Given the description of an element on the screen output the (x, y) to click on. 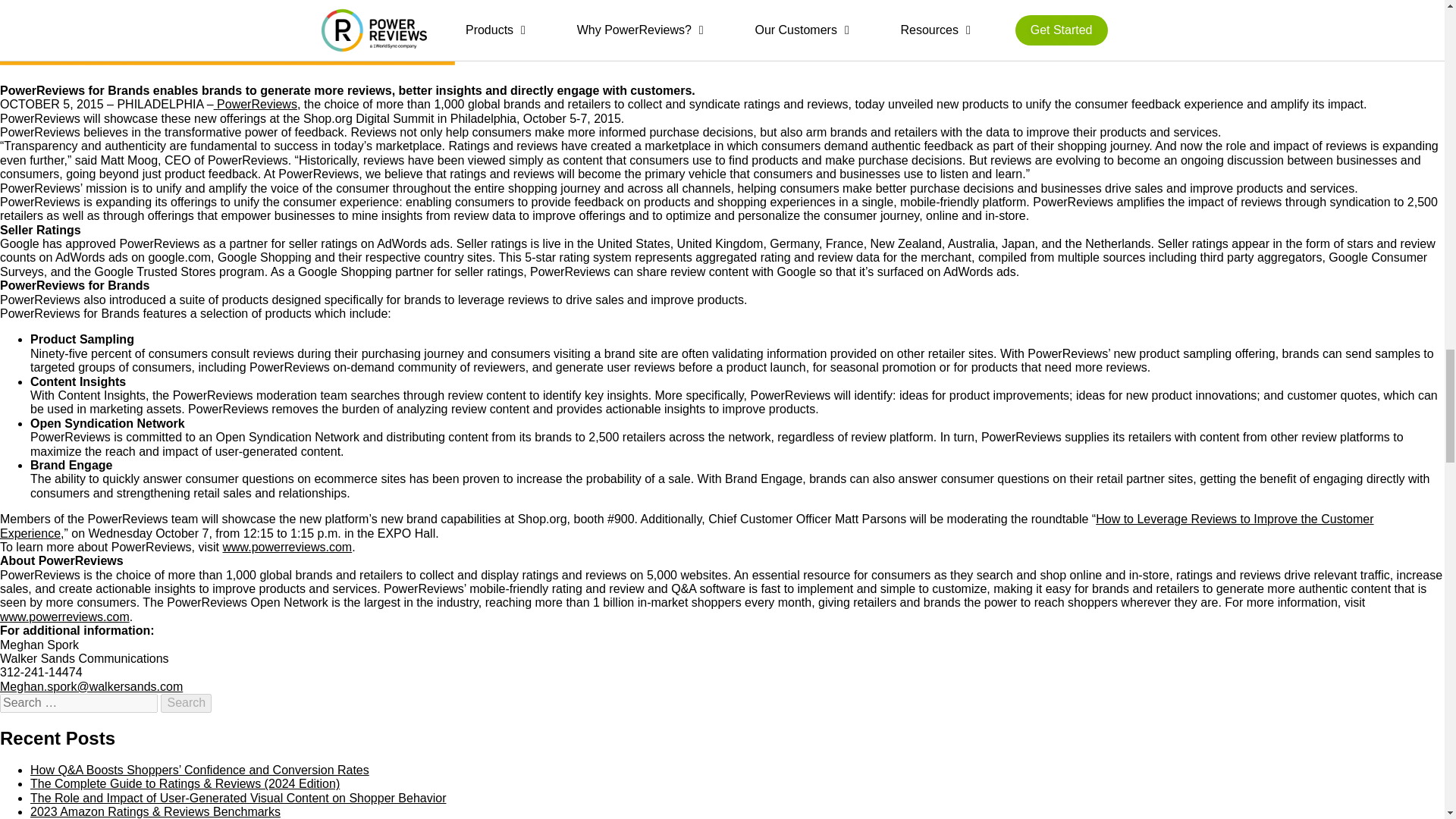
Search (185, 702)
Search (185, 702)
